Given the description of an element on the screen output the (x, y) to click on. 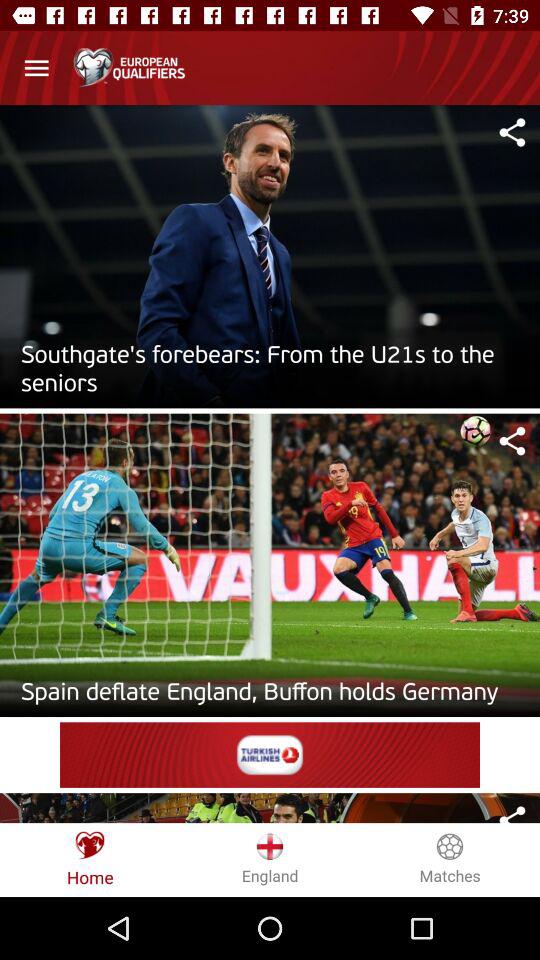
select the heading of the page (129, 67)
click on the share icon of spain deflate england  buffon holds germany (512, 440)
